Given the description of an element on the screen output the (x, y) to click on. 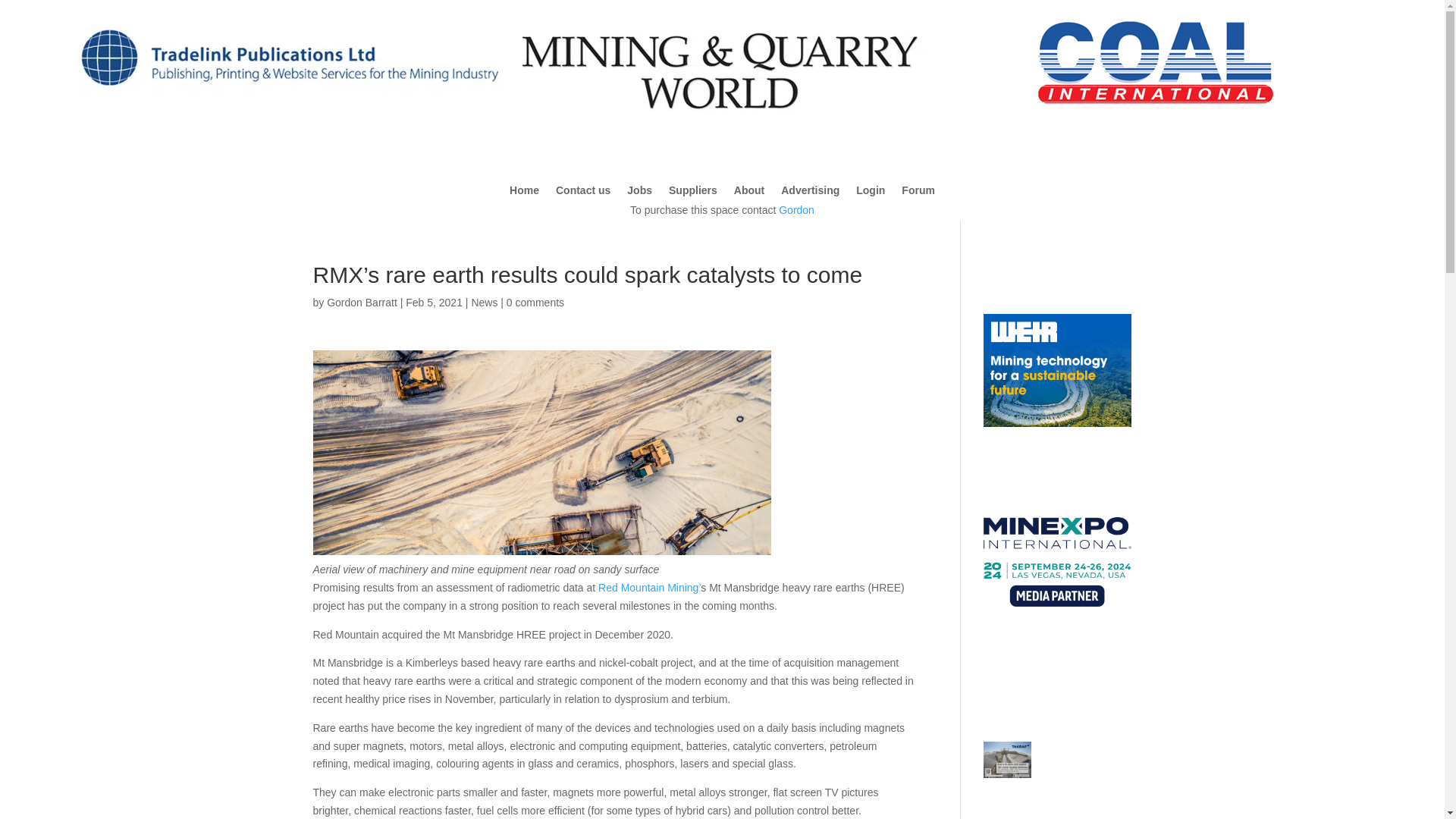
Contact us (583, 193)
Jobs (639, 193)
Posts by Gordon Barratt (361, 302)
0 comments (535, 302)
Gordon Barratt (361, 302)
Advertising (810, 193)
Login (870, 193)
Coal internalional (1156, 61)
About (748, 193)
tradelinkpublications logo (288, 105)
